Given the description of an element on the screen output the (x, y) to click on. 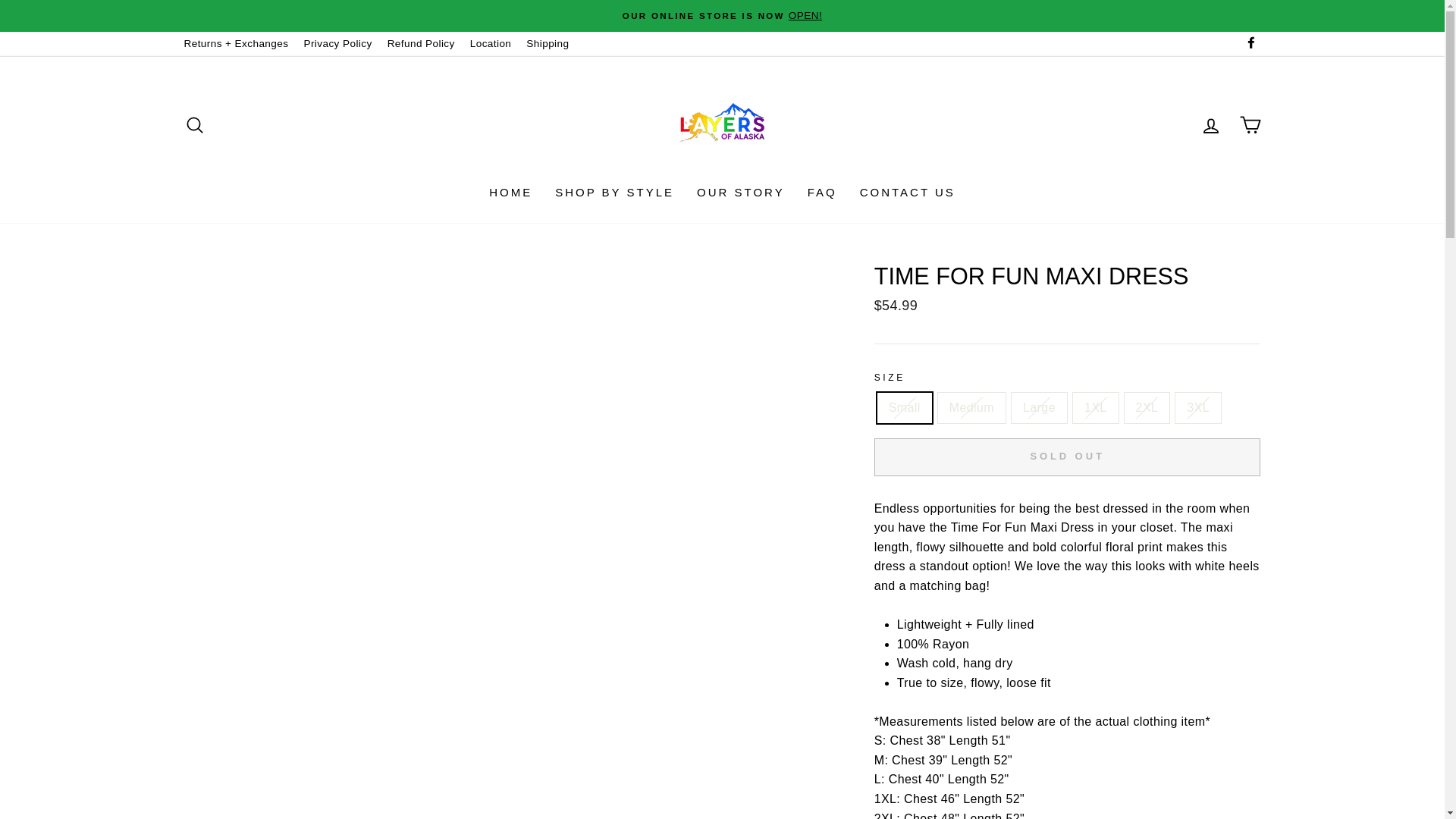
Layers Of Alaska Boutique on Facebook (1250, 43)
